Given the description of an element on the screen output the (x, y) to click on. 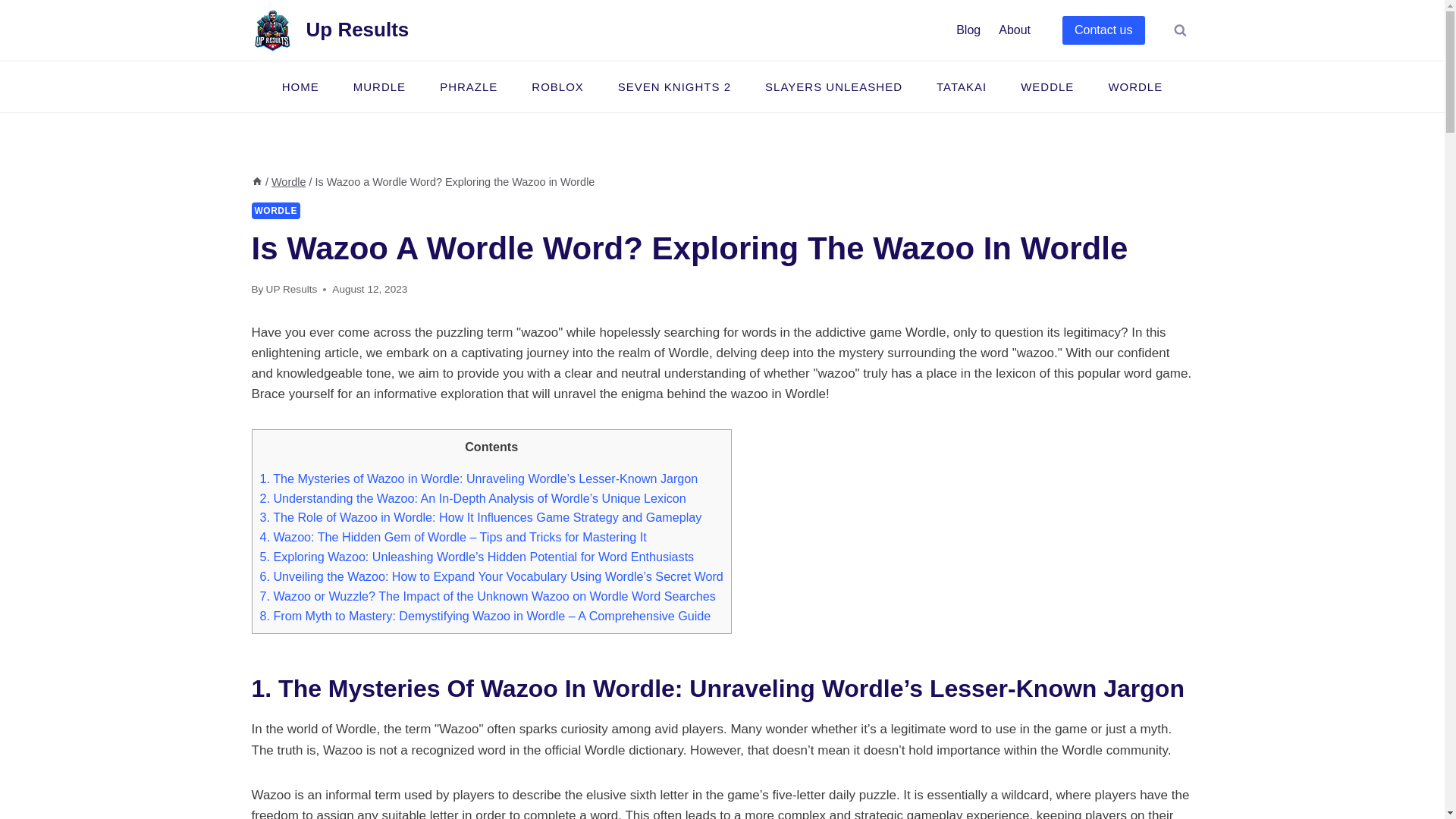
WEDDLE (1047, 86)
SLAYERS UNLEASHED (834, 86)
About (1014, 30)
TATAKAI (960, 86)
WORDLE (1134, 86)
SEVEN KNIGHTS 2 (673, 86)
HOME (300, 86)
PHRAZLE (469, 86)
Up Results (330, 29)
MURDLE (379, 86)
